Given the description of an element on the screen output the (x, y) to click on. 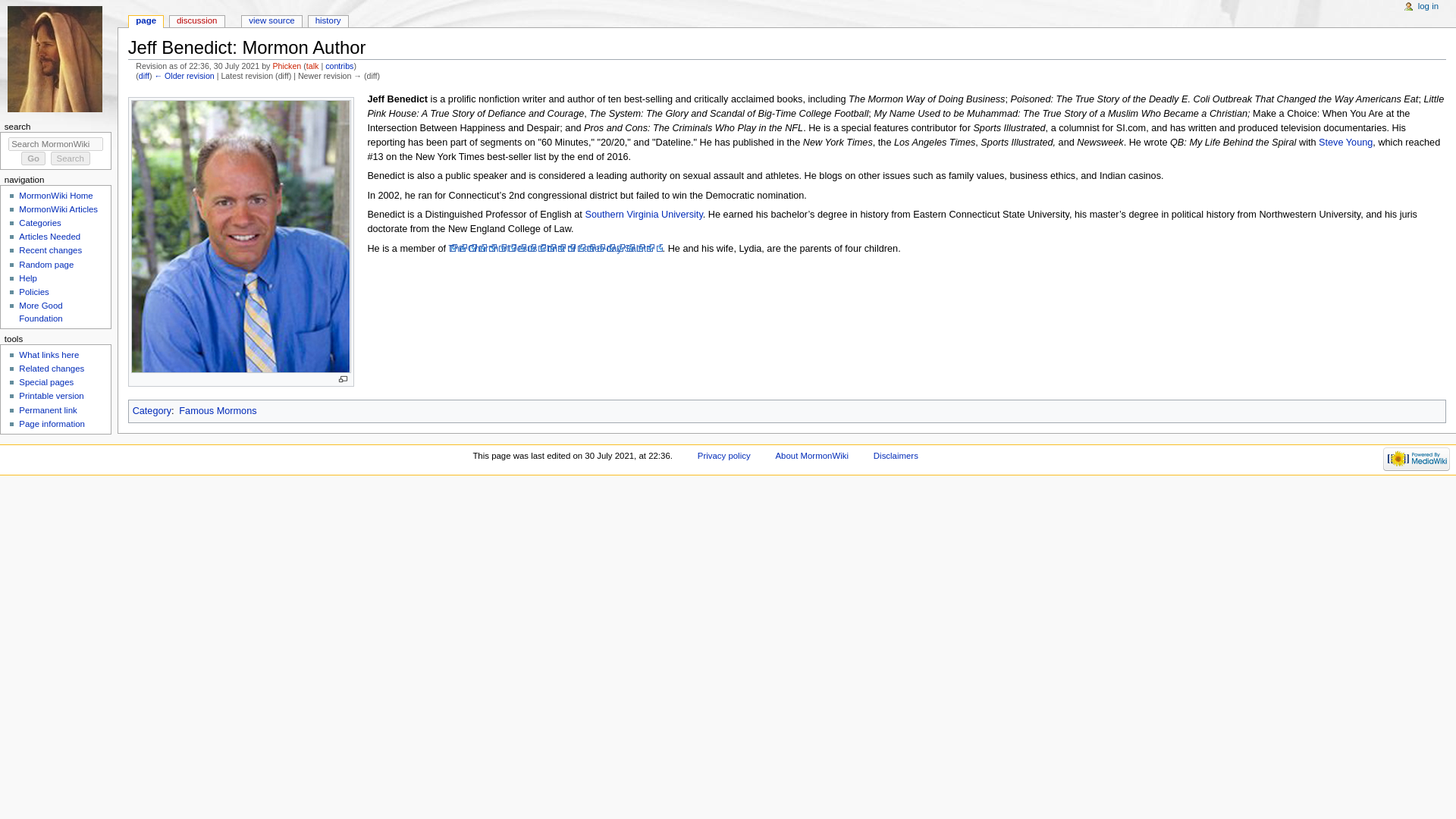
Special:Categories (151, 410)
Category:Famous Mormons (217, 410)
Jeff Benedict: Mormon Author (184, 75)
Enlarge (343, 379)
Help (27, 277)
contribs (338, 65)
Search (70, 158)
Search (70, 158)
Policies (33, 291)
Go (33, 158)
